Given the description of an element on the screen output the (x, y) to click on. 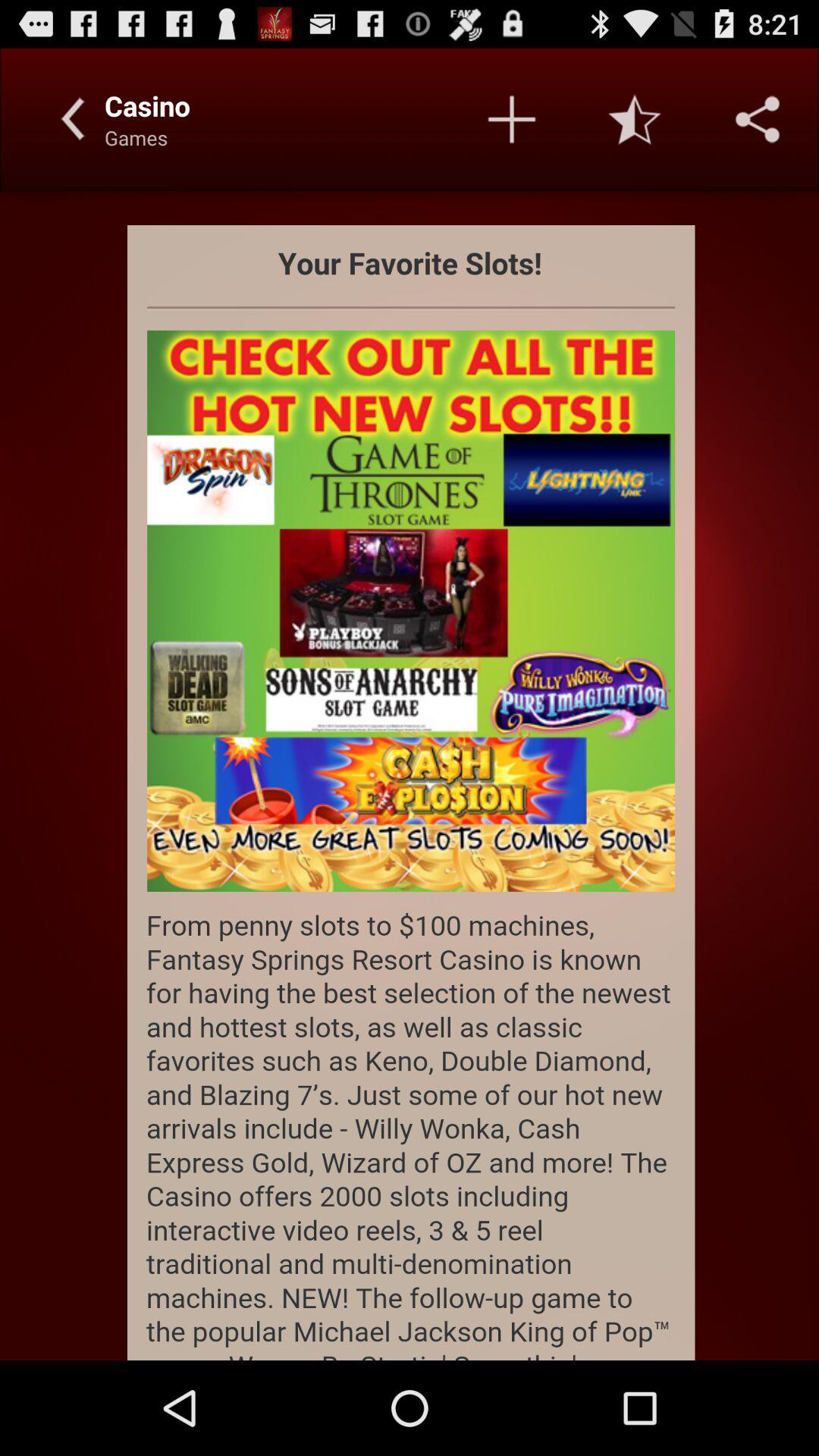
share the image (757, 119)
